Given the description of an element on the screen output the (x, y) to click on. 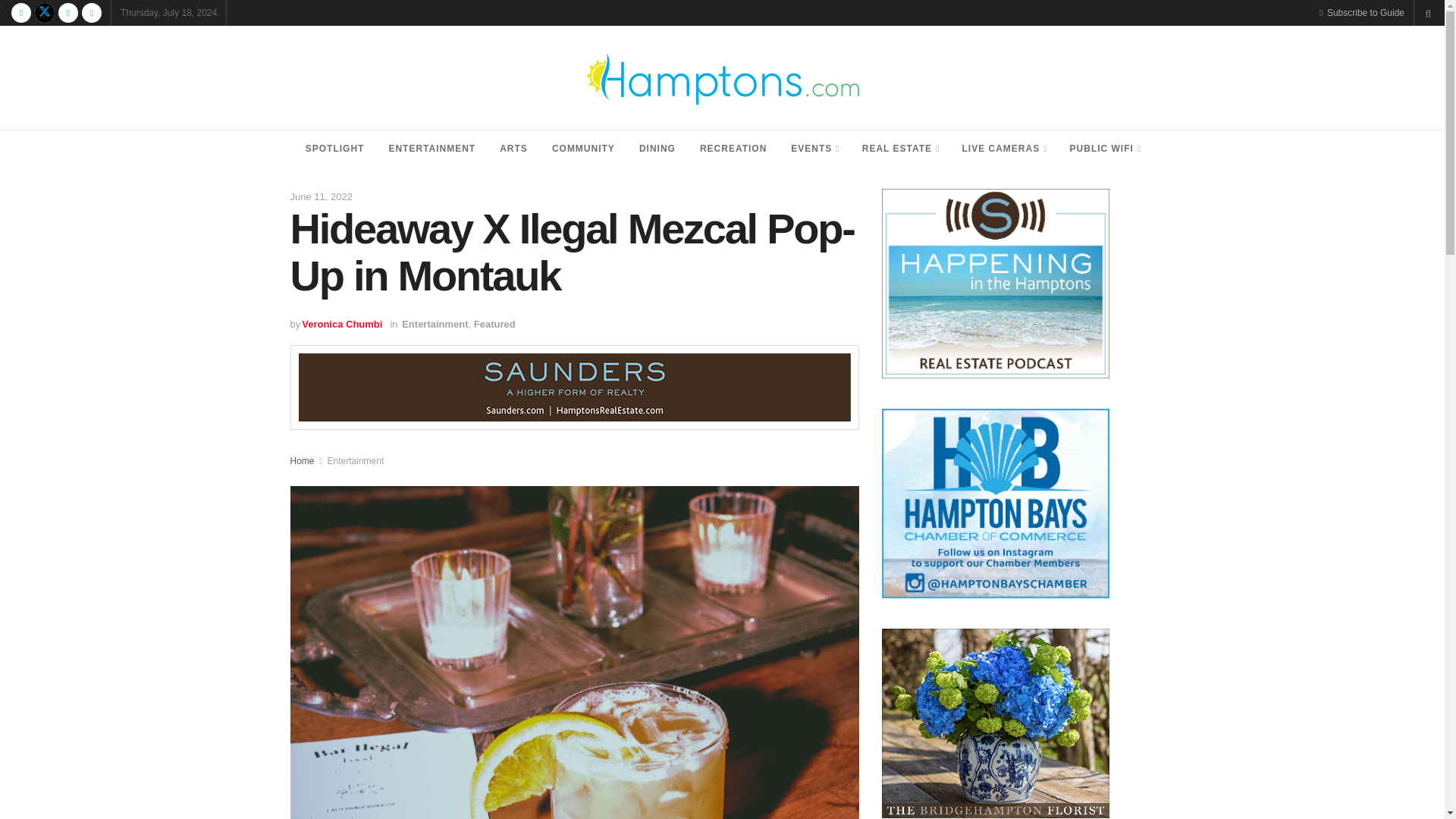
ARTS (513, 148)
LIVE CAMERAS (1003, 148)
SPOTLIGHT (335, 148)
RECREATION (732, 148)
REAL ESTATE (900, 148)
DINING (657, 148)
COMMUNITY (583, 148)
EVENTS (813, 148)
Subscribe to Guide (1362, 12)
ENTERTAINMENT (431, 148)
